Given the description of an element on the screen output the (x, y) to click on. 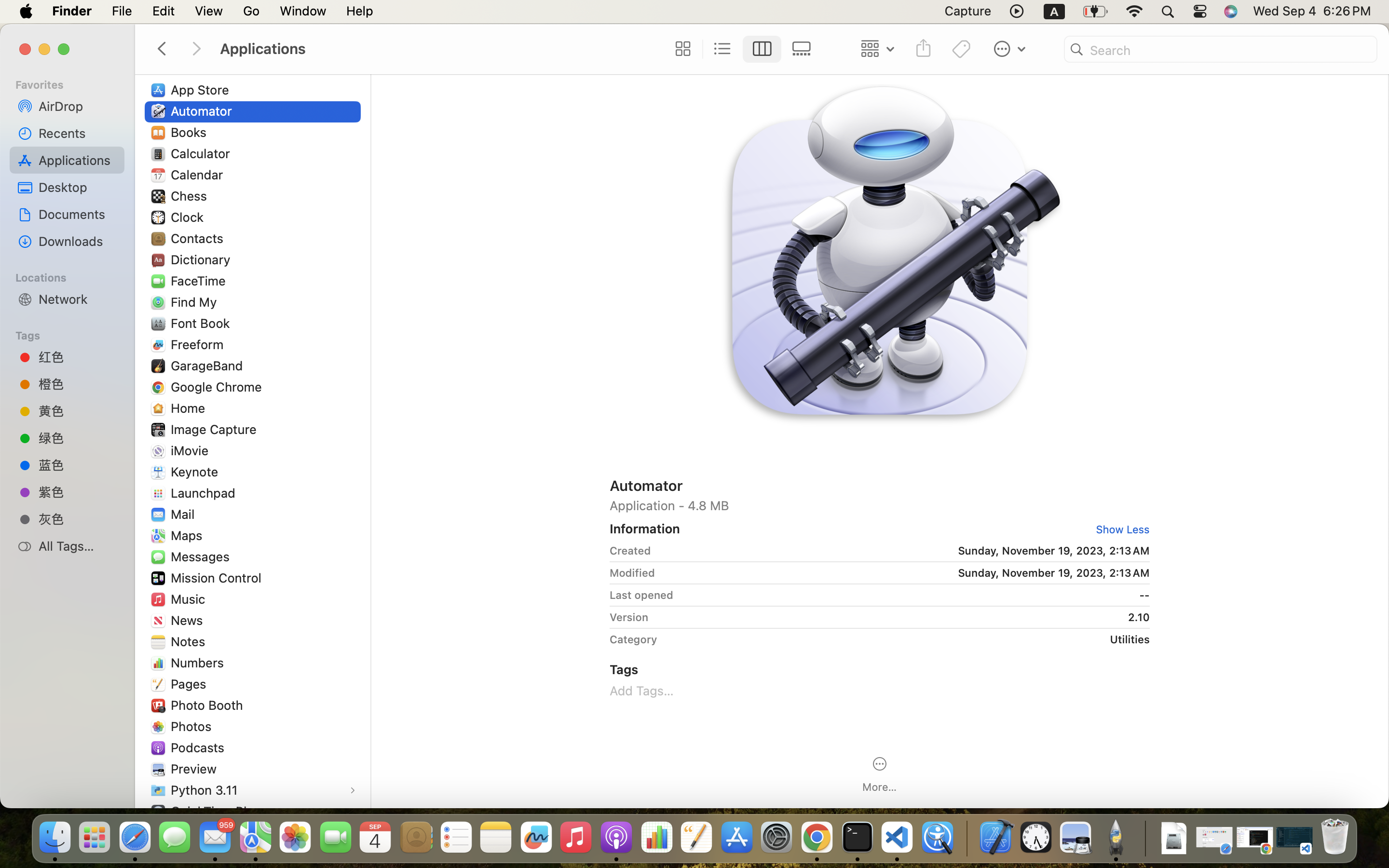
Find My Element type: AXTextField (195, 301)
Launchpad Element type: AXTextField (205, 492)
Calendar Element type: AXTextField (198, 174)
紫色 Element type: AXStaticText (77, 491)
Network Element type: AXStaticText (77, 298)
